Given the description of an element on the screen output the (x, y) to click on. 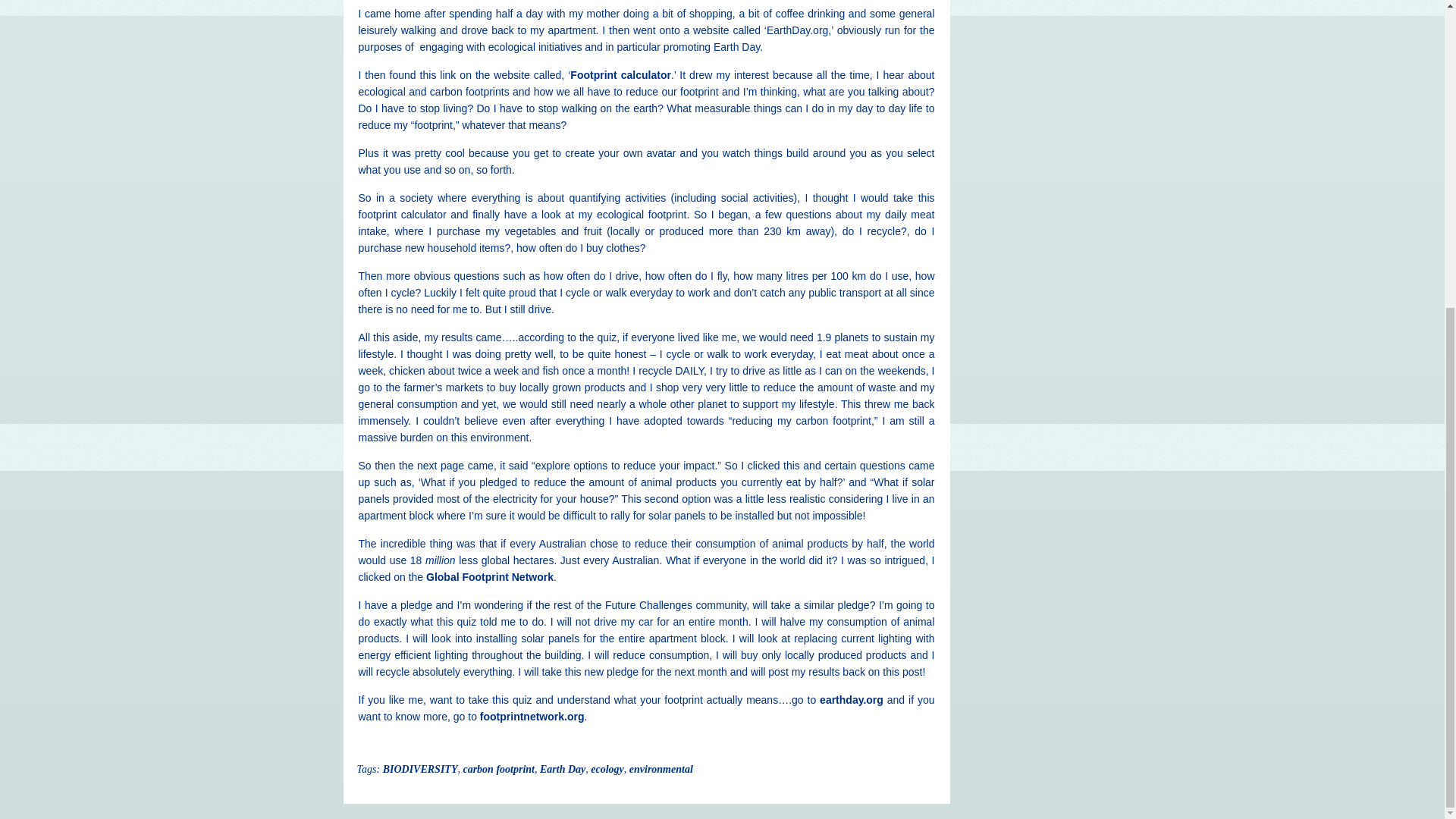
carbon footprint (498, 768)
ecology (607, 768)
BIODIVERSITY (420, 768)
Footprint calculator (620, 74)
Earth Day (562, 768)
earthday.org (851, 699)
Global Footprint Network (489, 576)
environmental (660, 768)
footprintnetwork.org (532, 716)
